Given the description of an element on the screen output the (x, y) to click on. 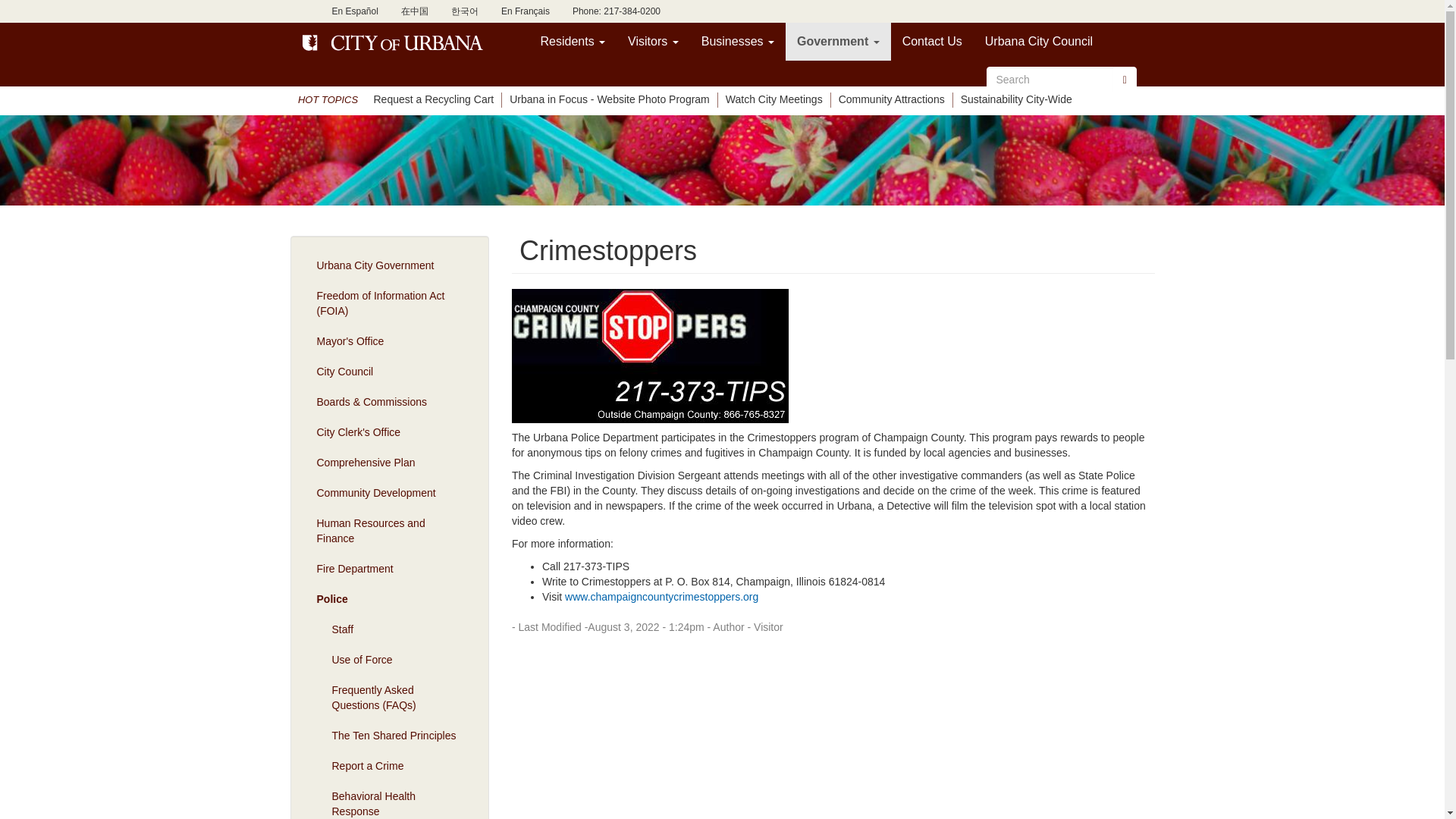
Phone: 217-384-0200 (615, 11)
Home (393, 41)
Visitors (652, 41)
Visit the main landing page for Residents. (573, 41)
Residents (573, 41)
